Given the description of an element on the screen output the (x, y) to click on. 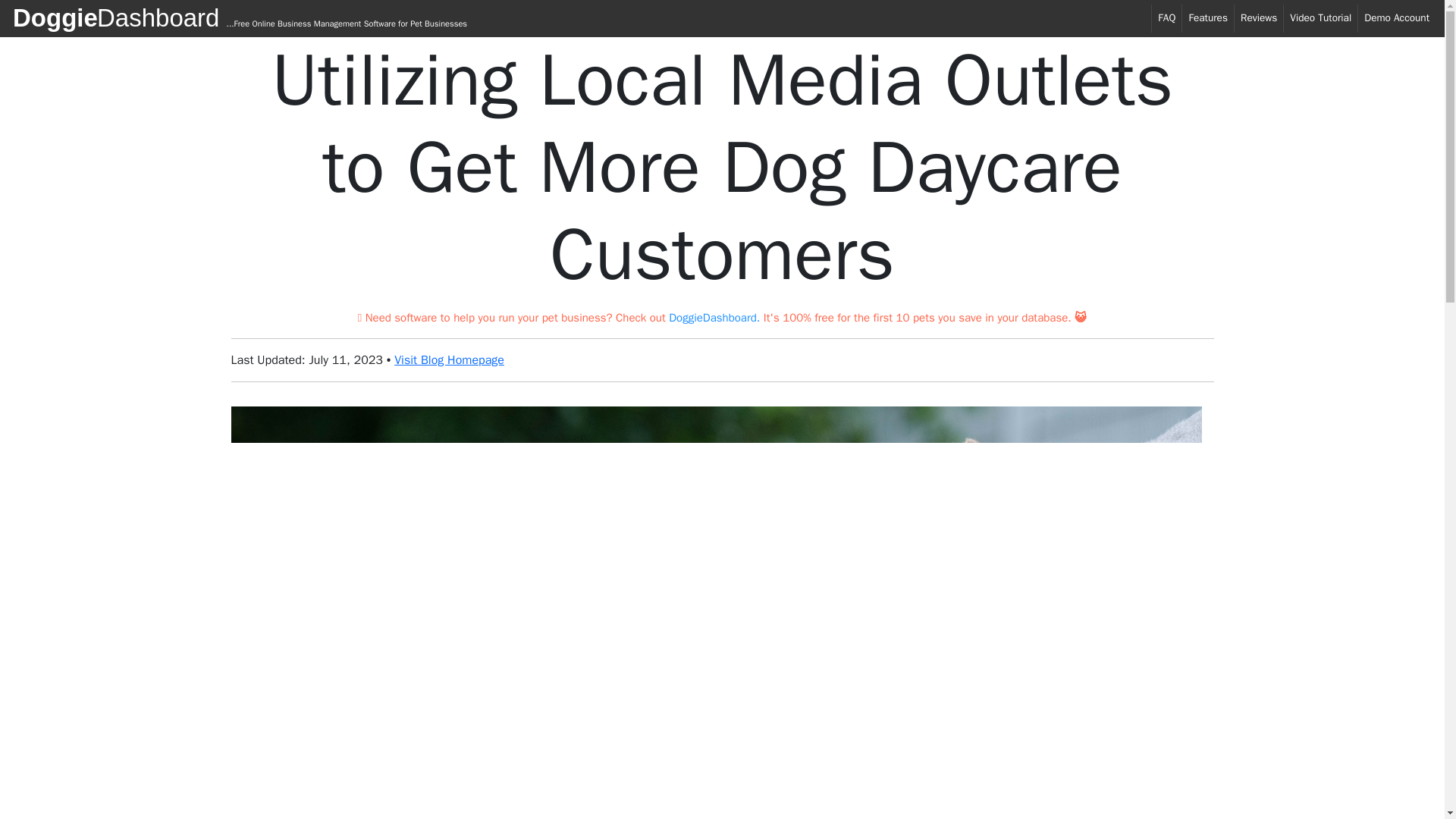
Features (1207, 17)
Video Tutorial (1320, 17)
Courtesy of Pixabay.com (307, 415)
Demo Account (1396, 17)
will breed familiarity with your business (439, 758)
Reviews (1258, 17)
Visit Blog Homepage (448, 359)
get your print marketing on (587, 620)
FAQ (1165, 17)
